Given the description of an element on the screen output the (x, y) to click on. 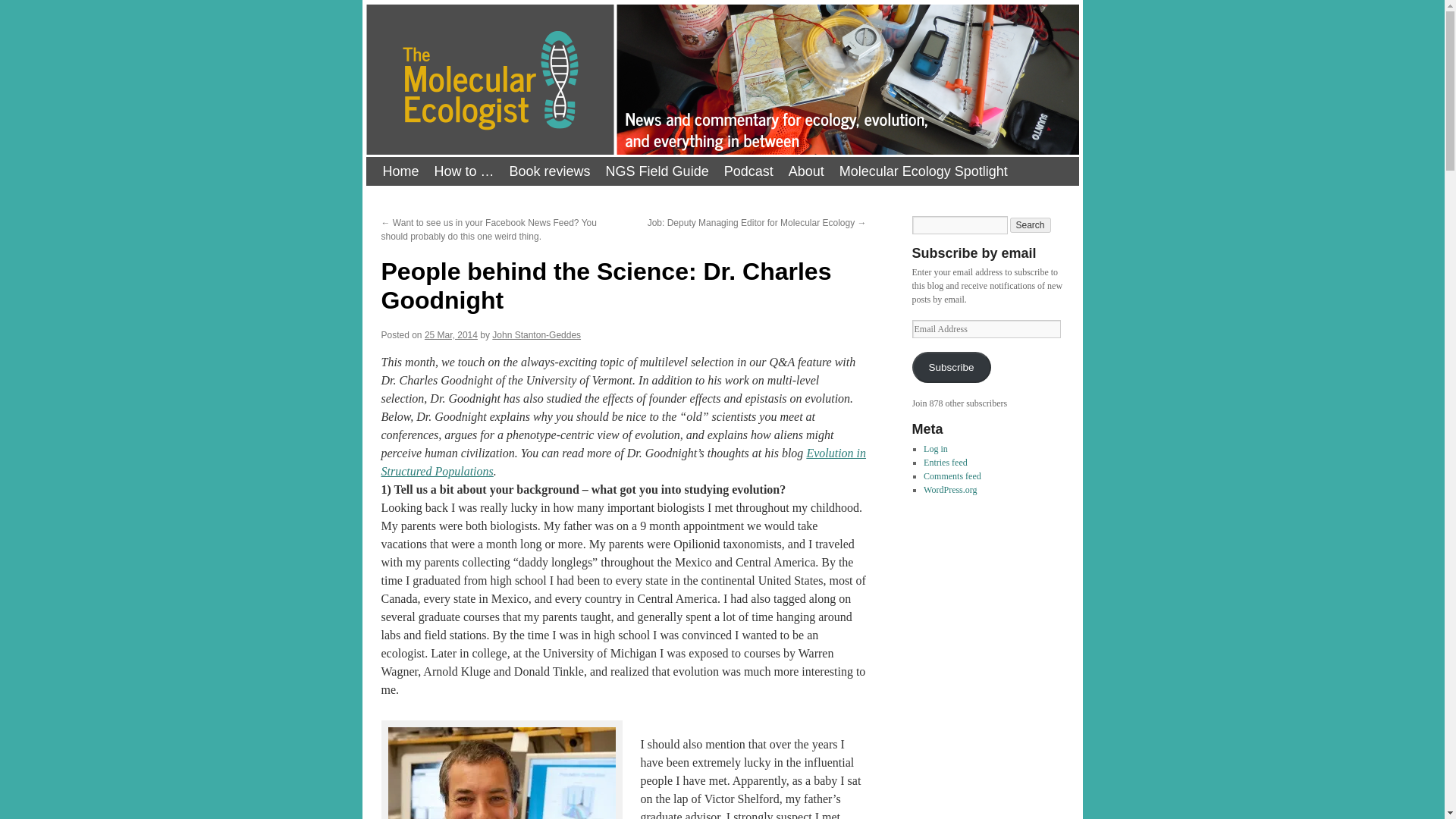
Home (400, 171)
Molecular Ecology Spotlight (922, 171)
View all posts by John Stanton-Geddes (536, 335)
John Stanton-Geddes (536, 335)
Search (1030, 224)
25 Mar, 2014 (451, 335)
Book reviews (550, 171)
NGS Field Guide (657, 171)
Evolution in Structured Populations (623, 461)
Podcast (748, 171)
how-to posts (464, 171)
About (805, 171)
05:08 (451, 335)
